Given the description of an element on the screen output the (x, y) to click on. 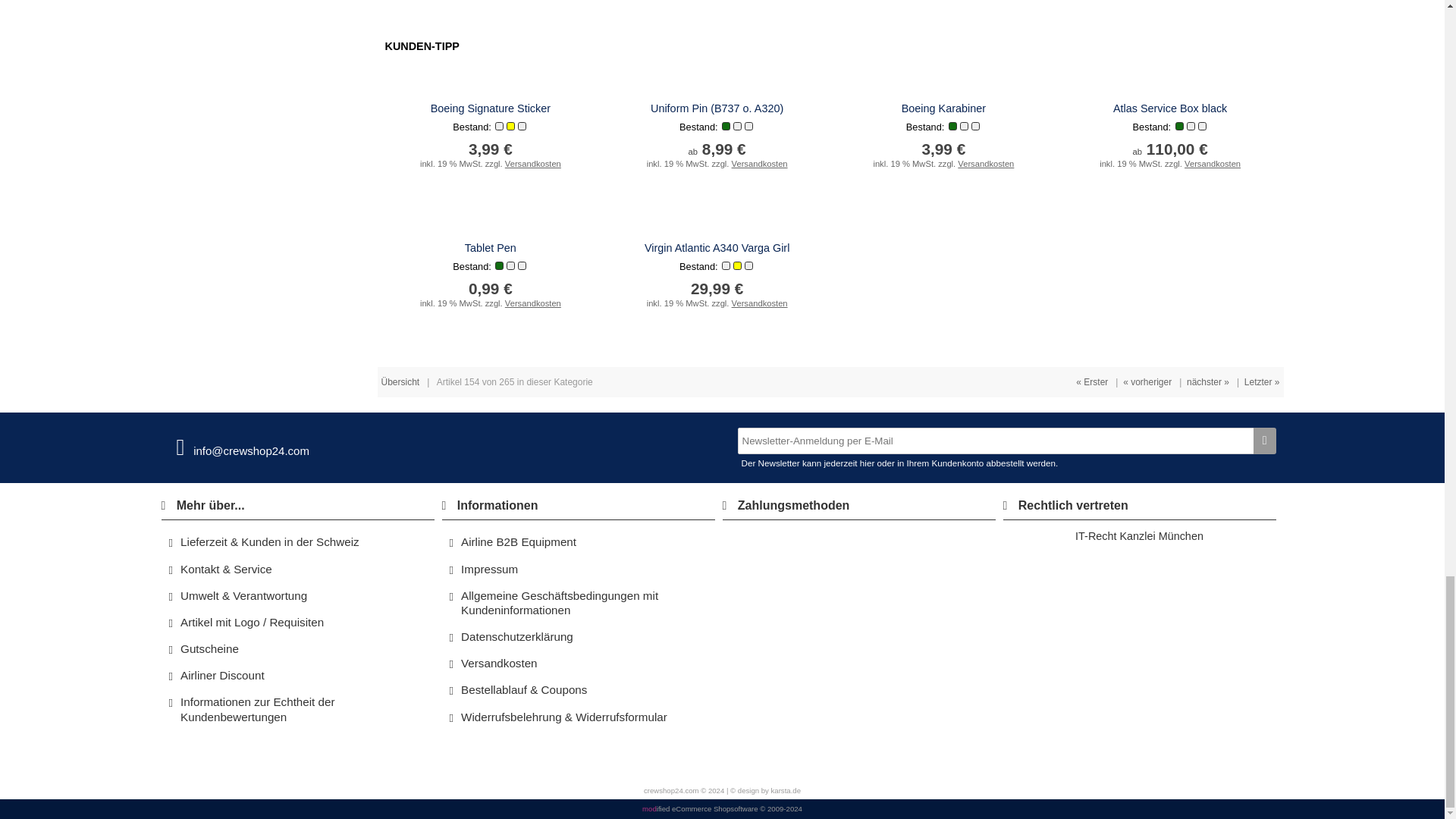
Boeing Karabiner (943, 108)
Versandkosten (985, 163)
Versandkosten (532, 163)
Boeing Signature Sticker (490, 108)
Atlas Service Box black (1170, 108)
Versandkosten (759, 163)
